Given the description of an element on the screen output the (x, y) to click on. 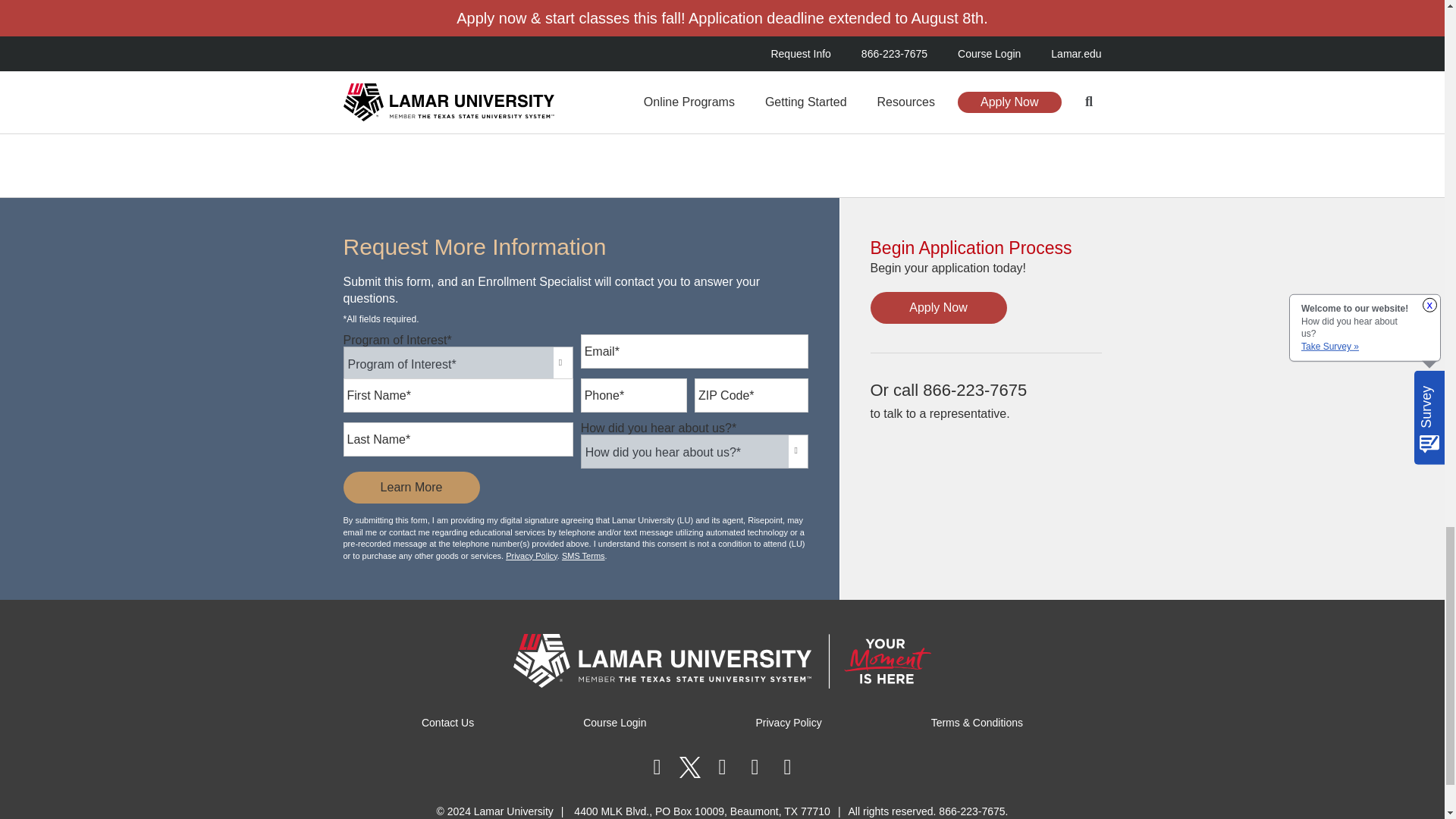
Learn More (410, 487)
